Given the description of an element on the screen output the (x, y) to click on. 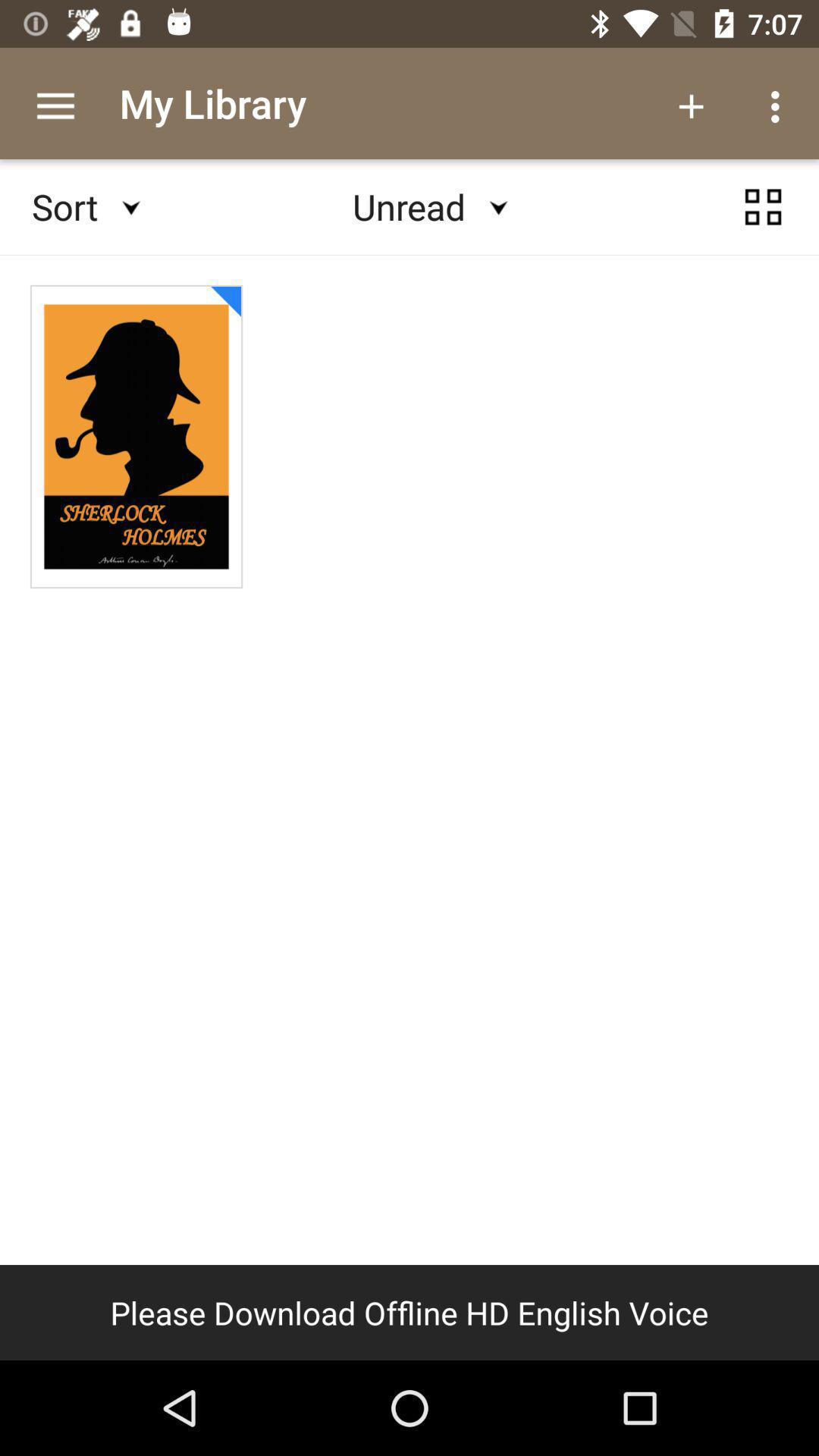
menu (763, 206)
